Given the description of an element on the screen output the (x, y) to click on. 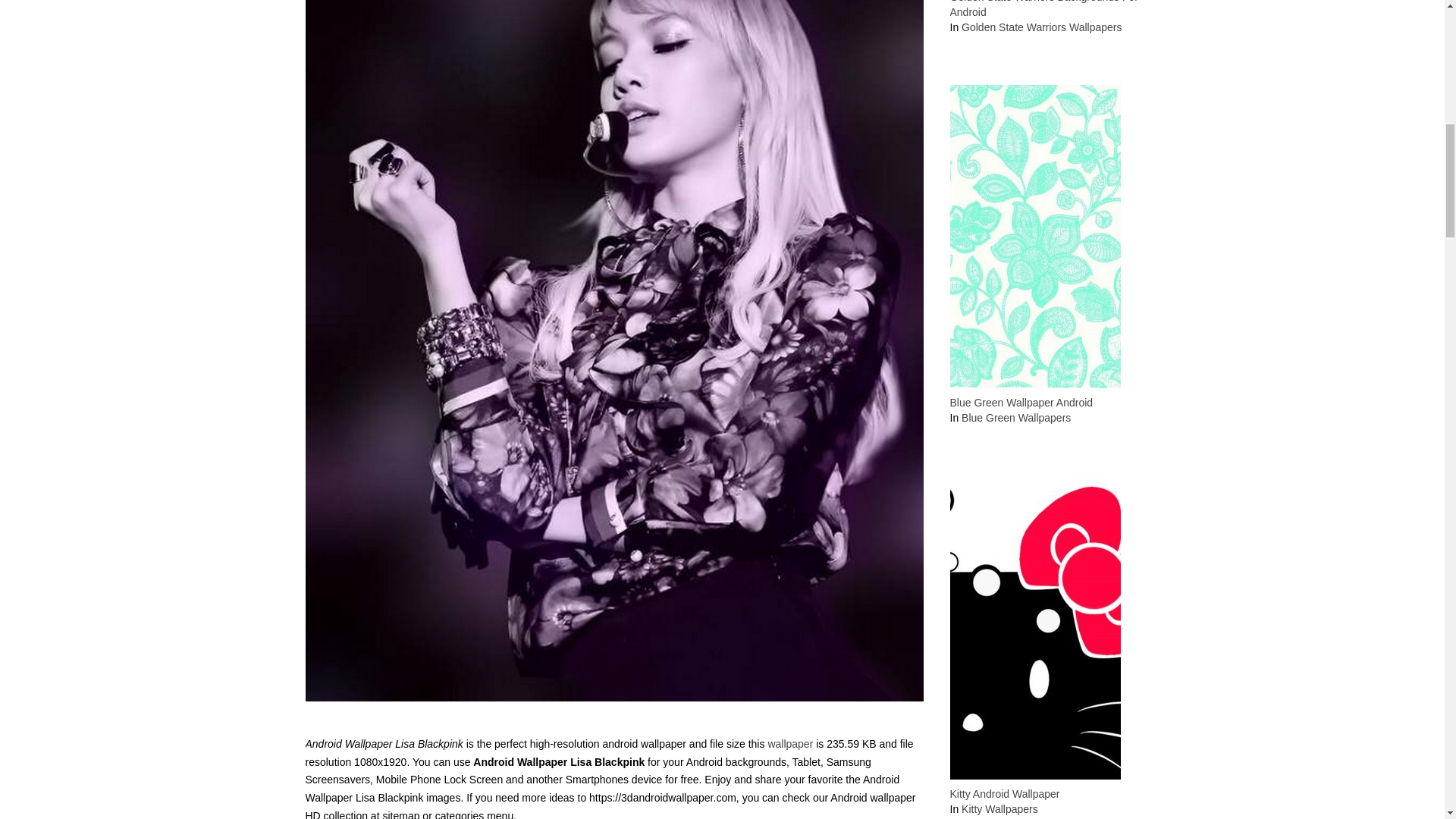
wallpaper (789, 743)
